Given the description of an element on the screen output the (x, y) to click on. 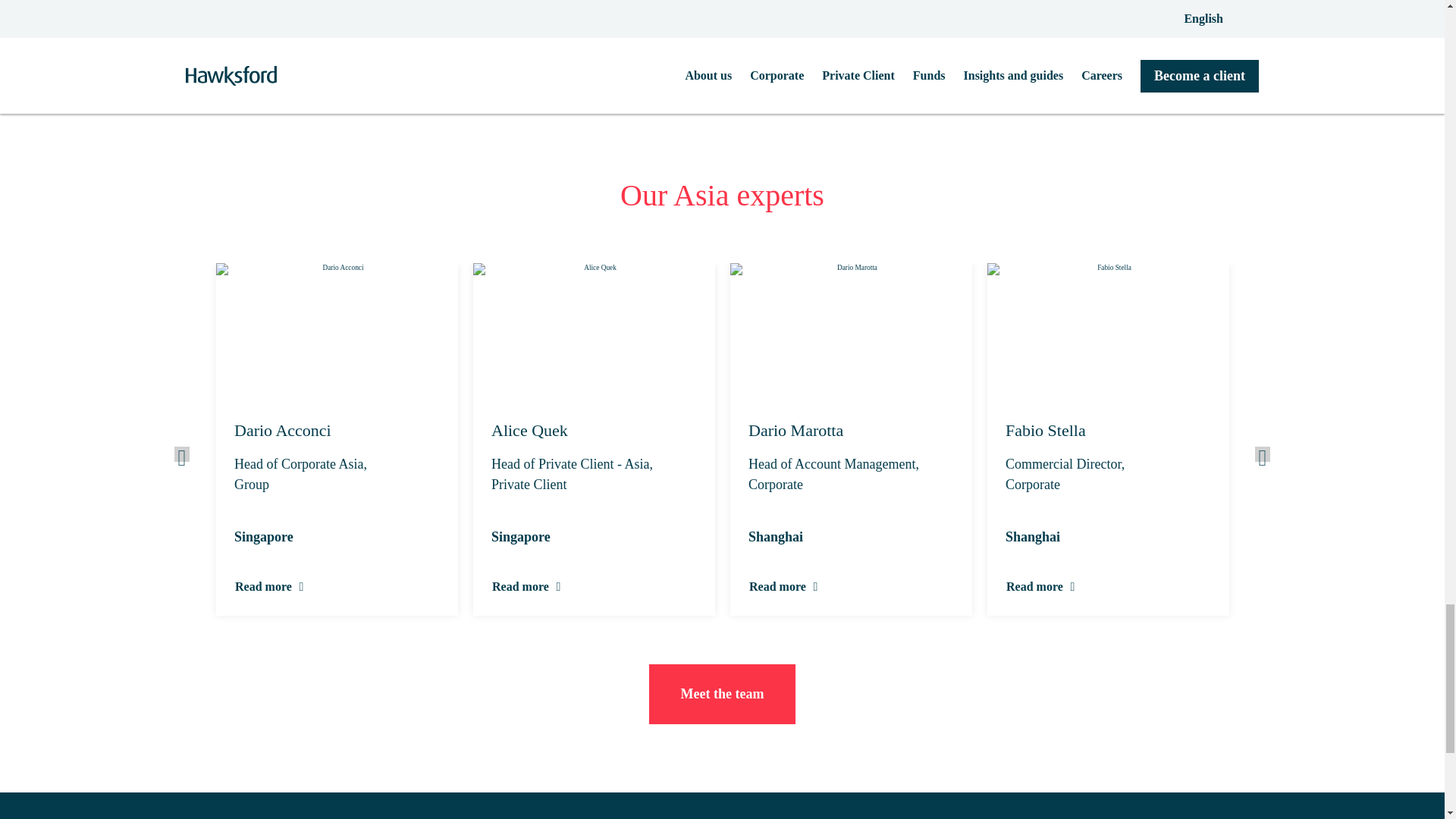
Download (721, 24)
